Given the description of an element on the screen output the (x, y) to click on. 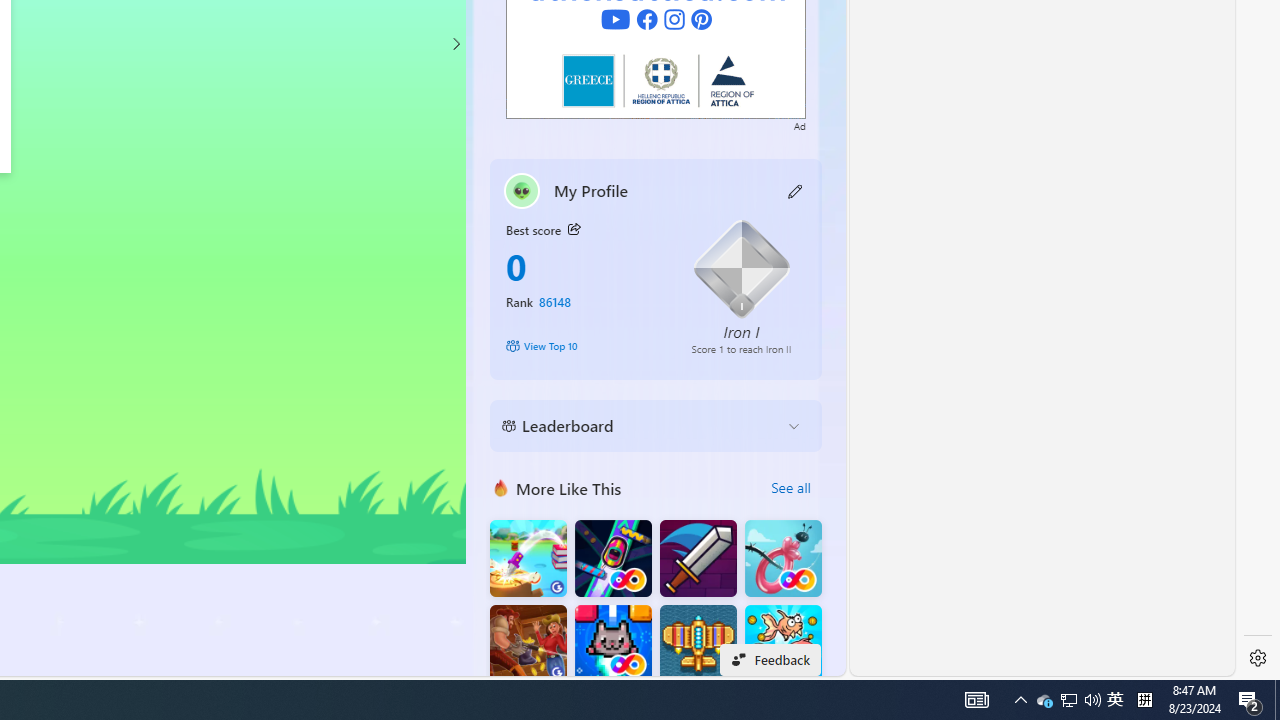
See all (790, 487)
""'s avatar (522, 190)
Q2790: 100% (1092, 699)
Notification Chevron (1020, 699)
Leaderboard (639, 425)
Bumper Car FRVR (612, 558)
Show desktop (1277, 699)
Atlantic Sky Hunter (698, 643)
Balloon FRVR (783, 558)
Knife Flip (528, 558)
Kitten Force FRVR (1044, 699)
